Given the description of an element on the screen output the (x, y) to click on. 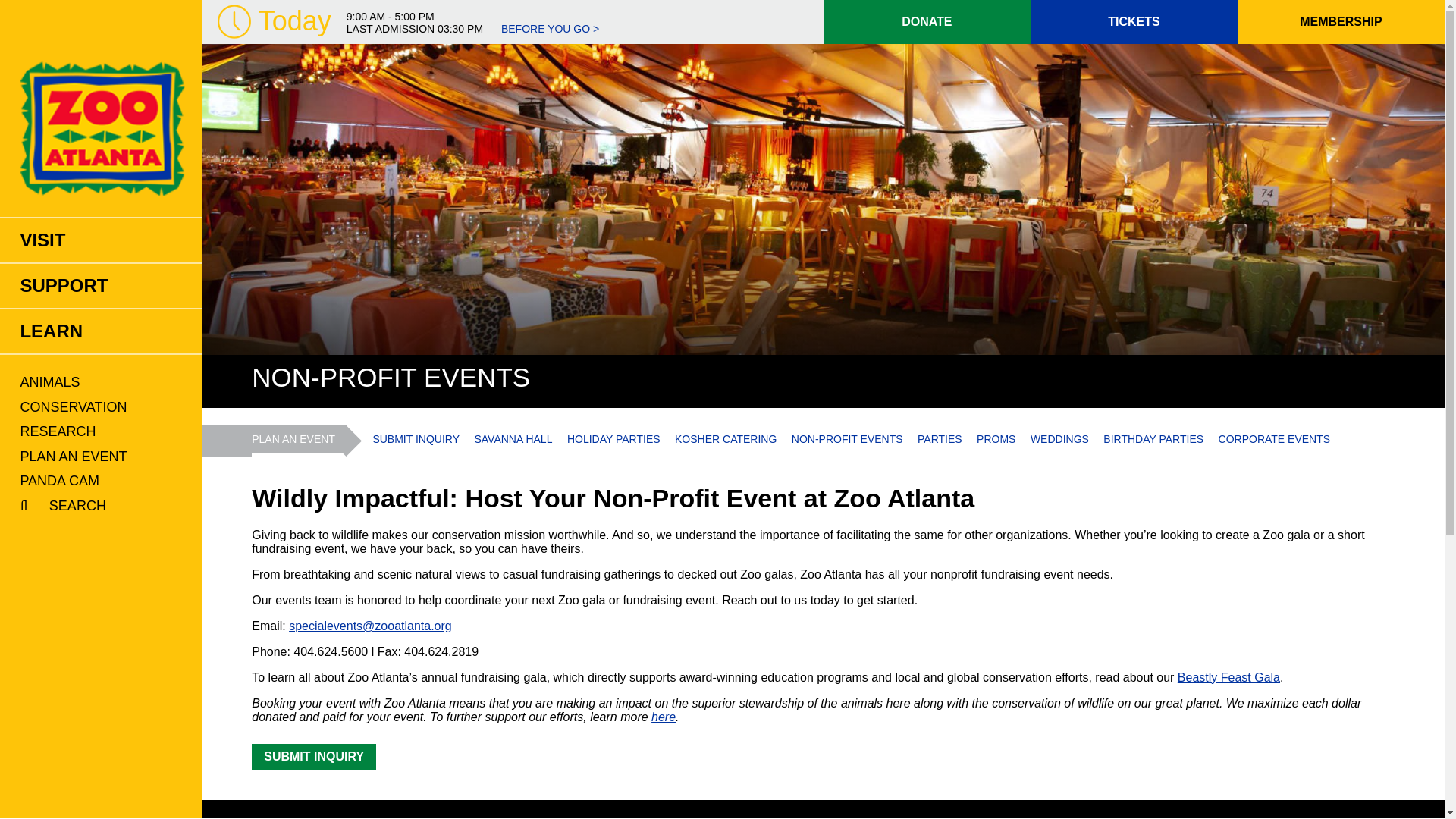
SUPPORT (101, 285)
VISIT (101, 240)
